Given the description of an element on the screen output the (x, y) to click on. 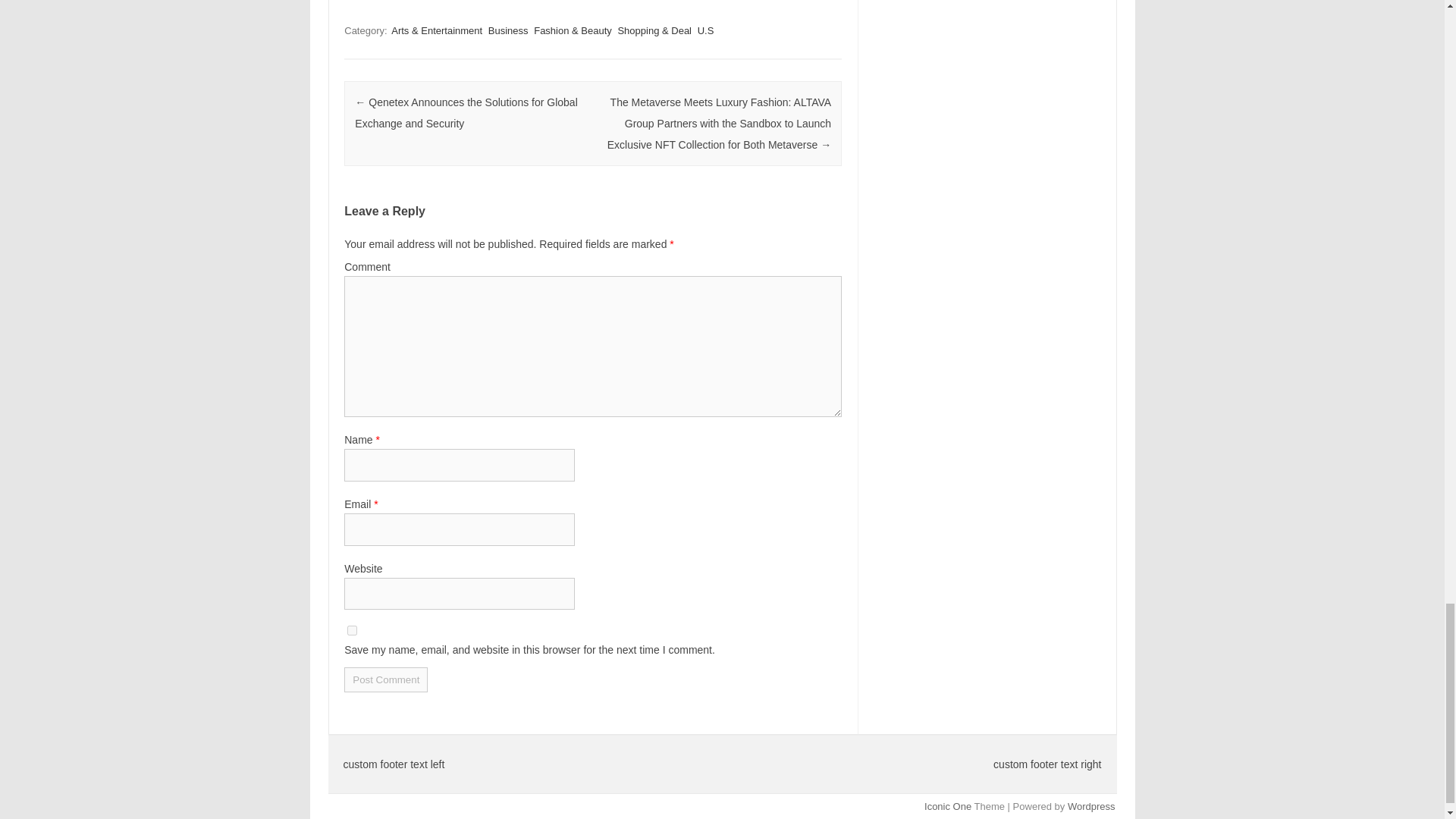
Post Comment (385, 679)
Post Comment (385, 679)
Business (507, 30)
U.S (705, 30)
yes (351, 630)
